Given the description of an element on the screen output the (x, y) to click on. 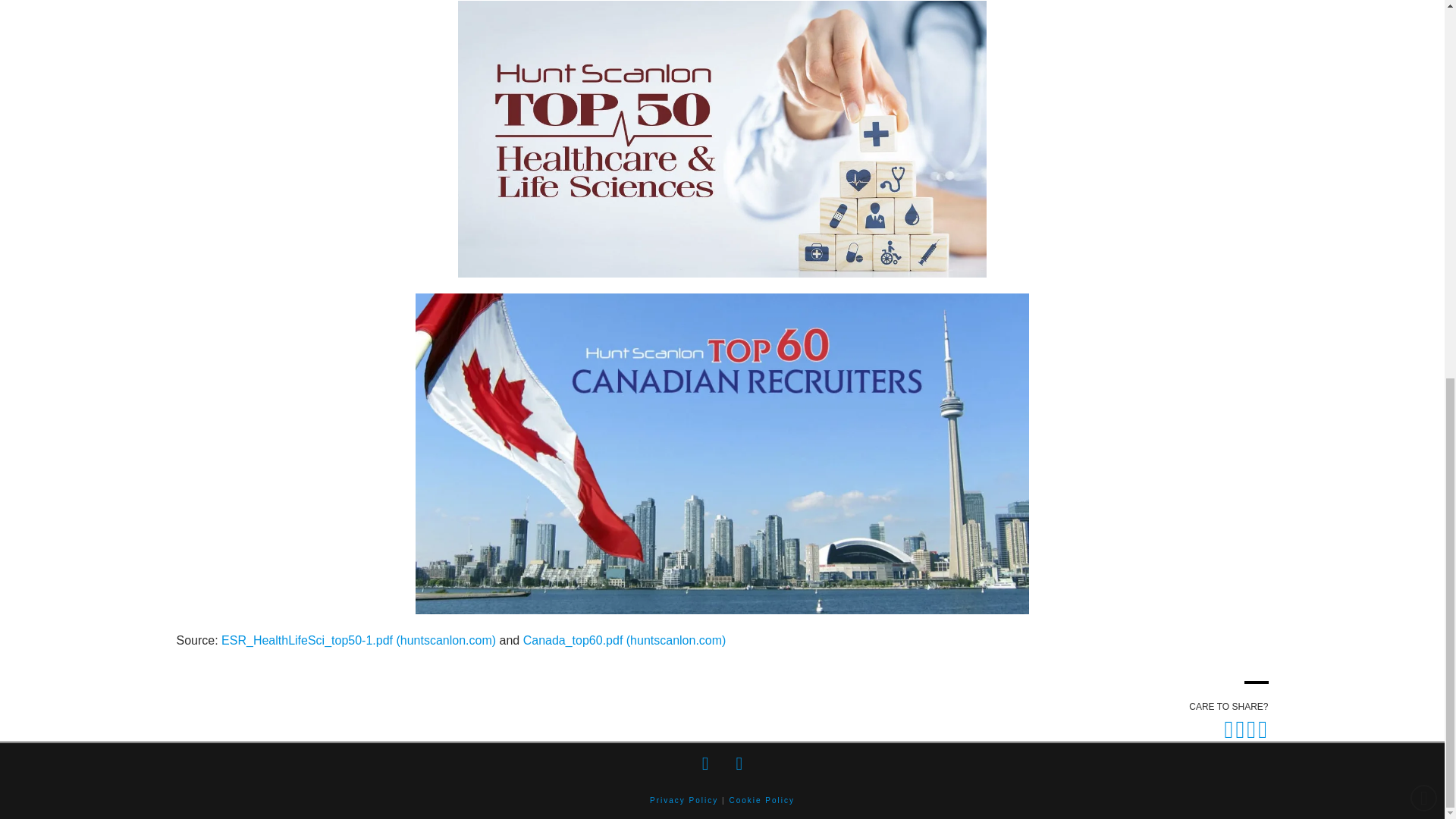
LinkedIn (738, 763)
Cookie Policy (761, 800)
Back to Top (1423, 97)
Privacy Policy (683, 800)
